Given the description of an element on the screen output the (x, y) to click on. 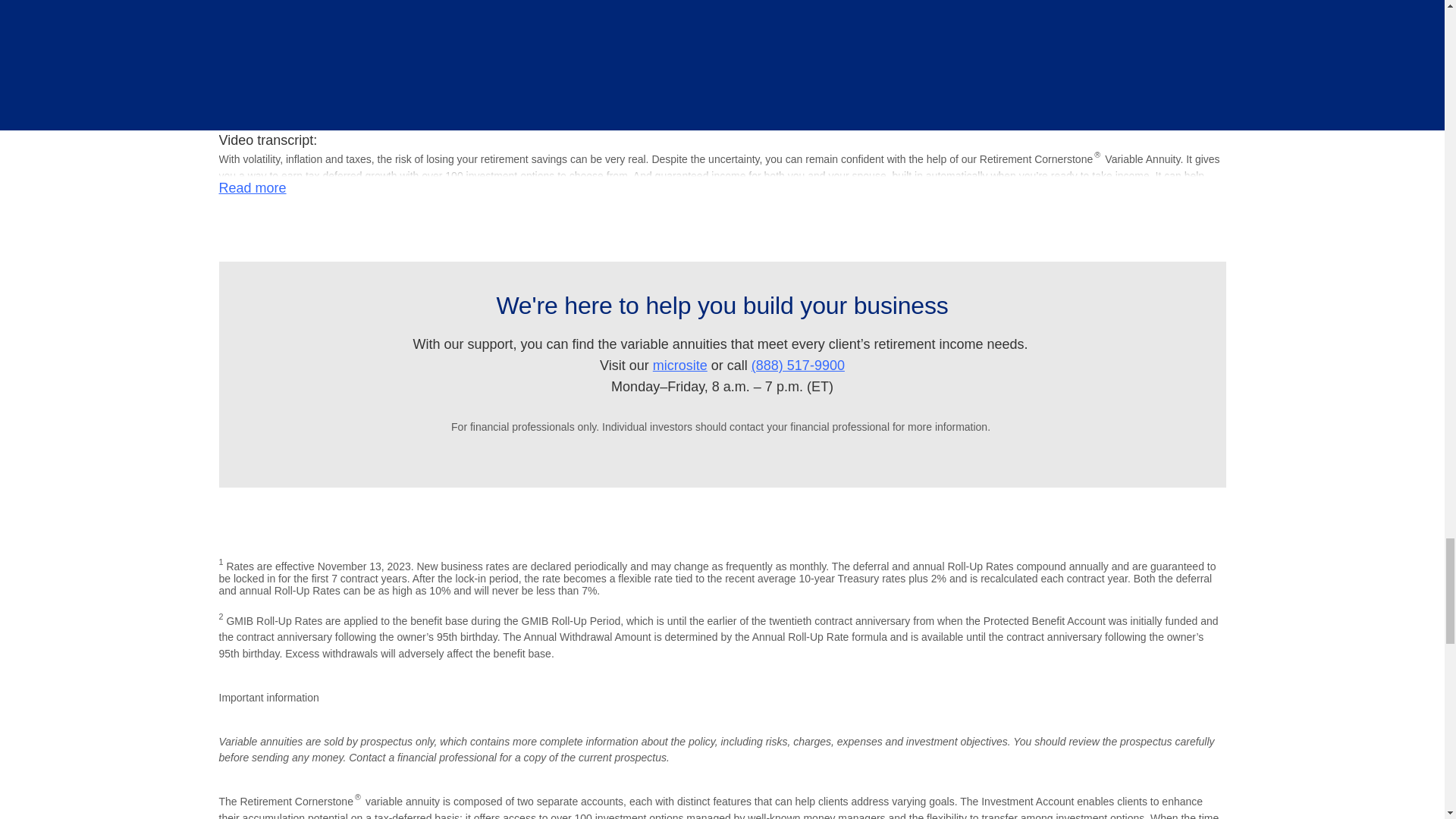
microsite (679, 365)
Read more (251, 187)
